Given the description of an element on the screen output the (x, y) to click on. 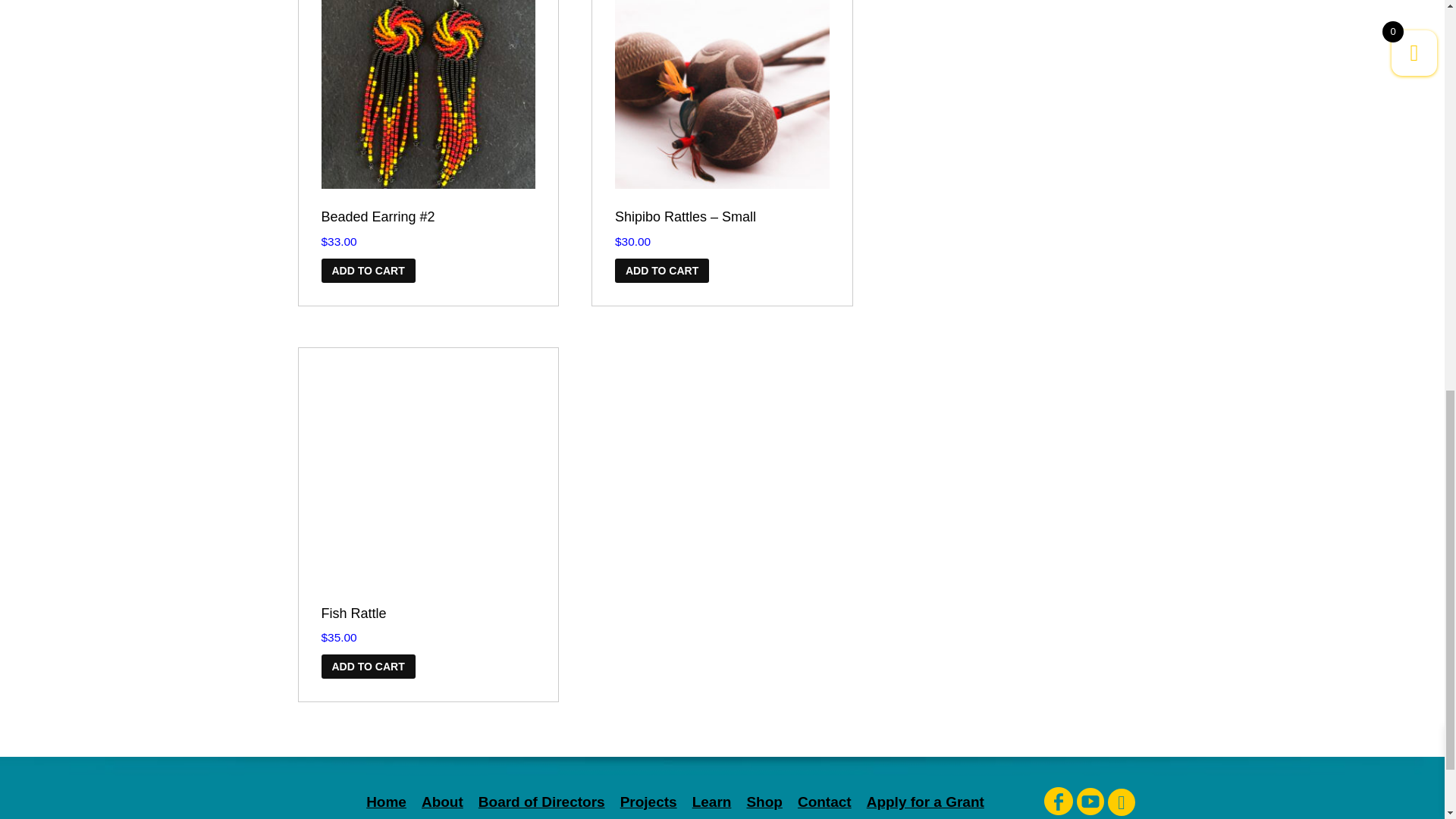
About (442, 801)
ADD TO CART (661, 269)
Contact (824, 801)
Projects (648, 801)
ADD TO CART (367, 666)
Shop (764, 801)
Home (386, 801)
Board of Directors (542, 801)
Apply for a Grant (925, 801)
Learn (712, 801)
ADD TO CART (367, 269)
